Given the description of an element on the screen output the (x, y) to click on. 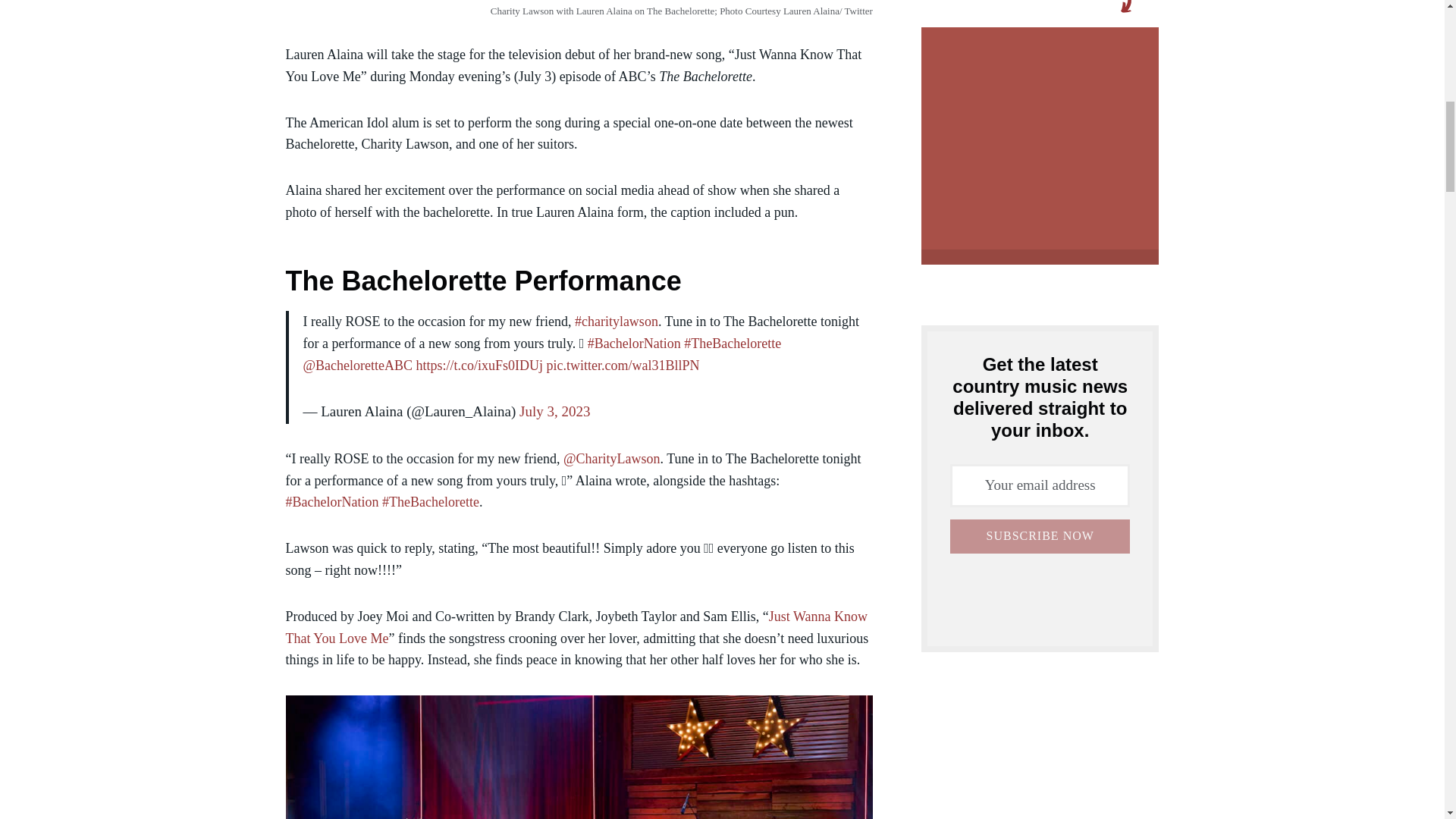
July 3, 2023 (554, 411)
